Given the description of an element on the screen output the (x, y) to click on. 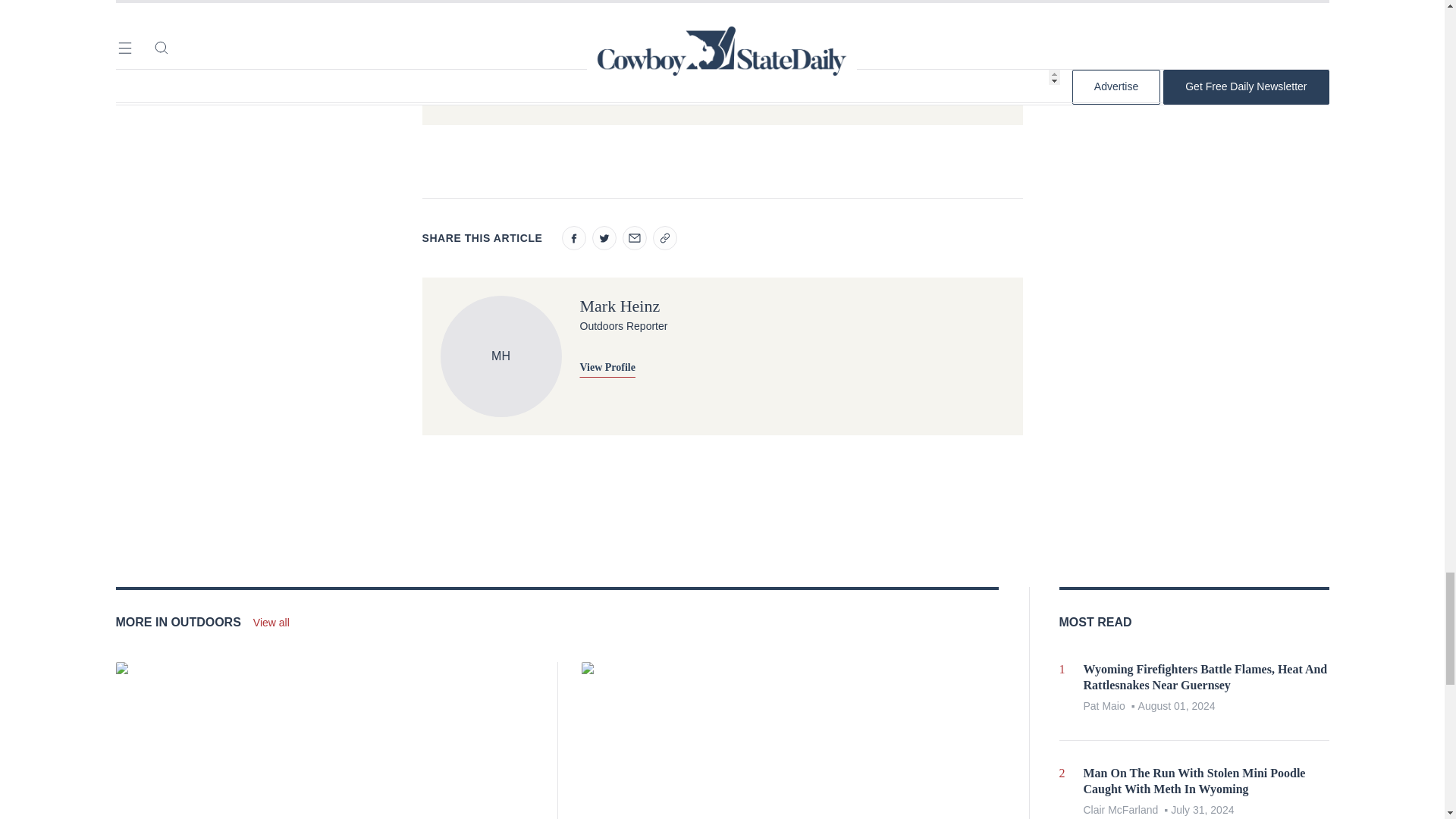
Copy to clipboard (664, 238)
